Given the description of an element on the screen output the (x, y) to click on. 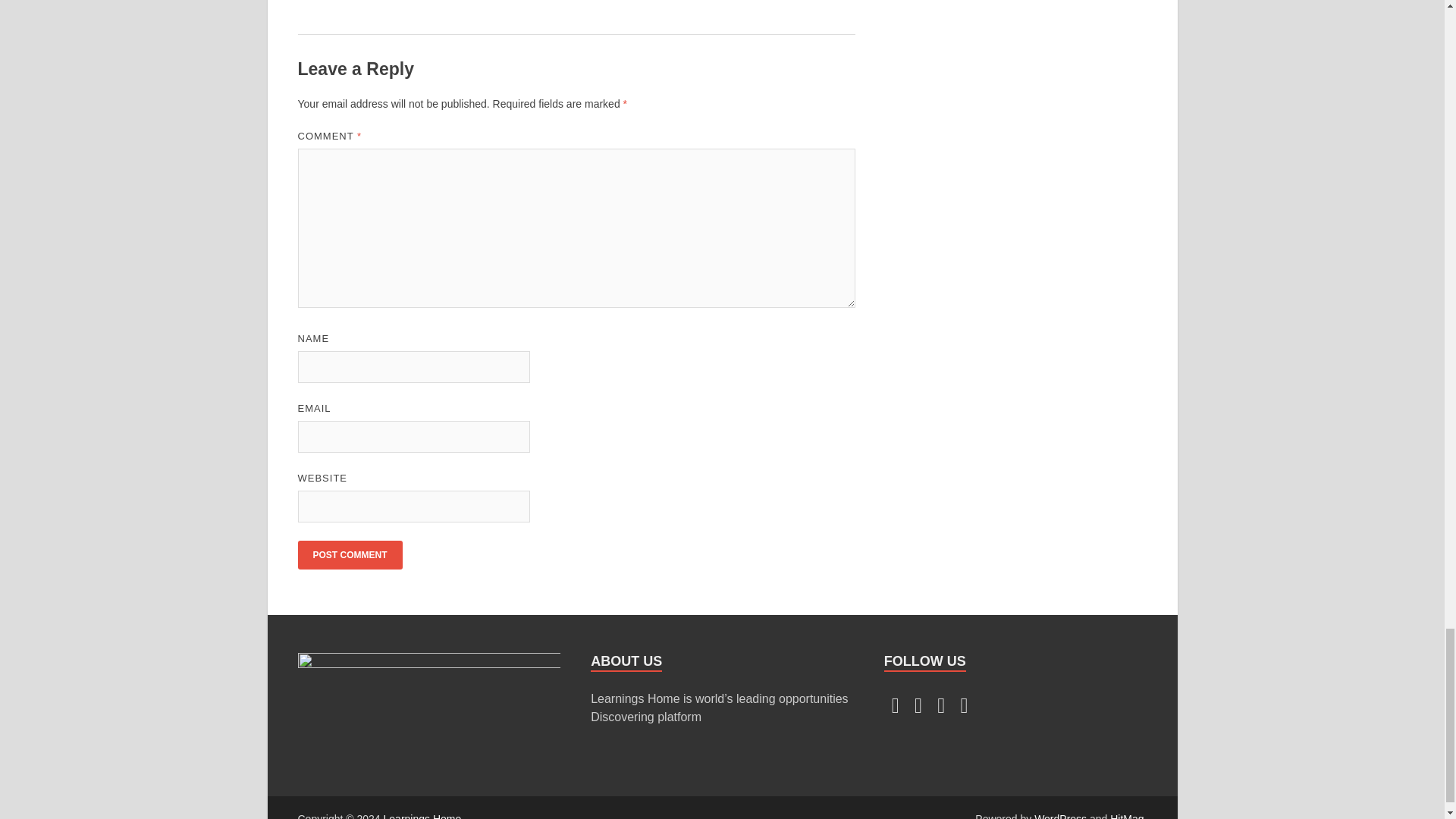
Post Comment (349, 554)
